Given the description of an element on the screen output the (x, y) to click on. 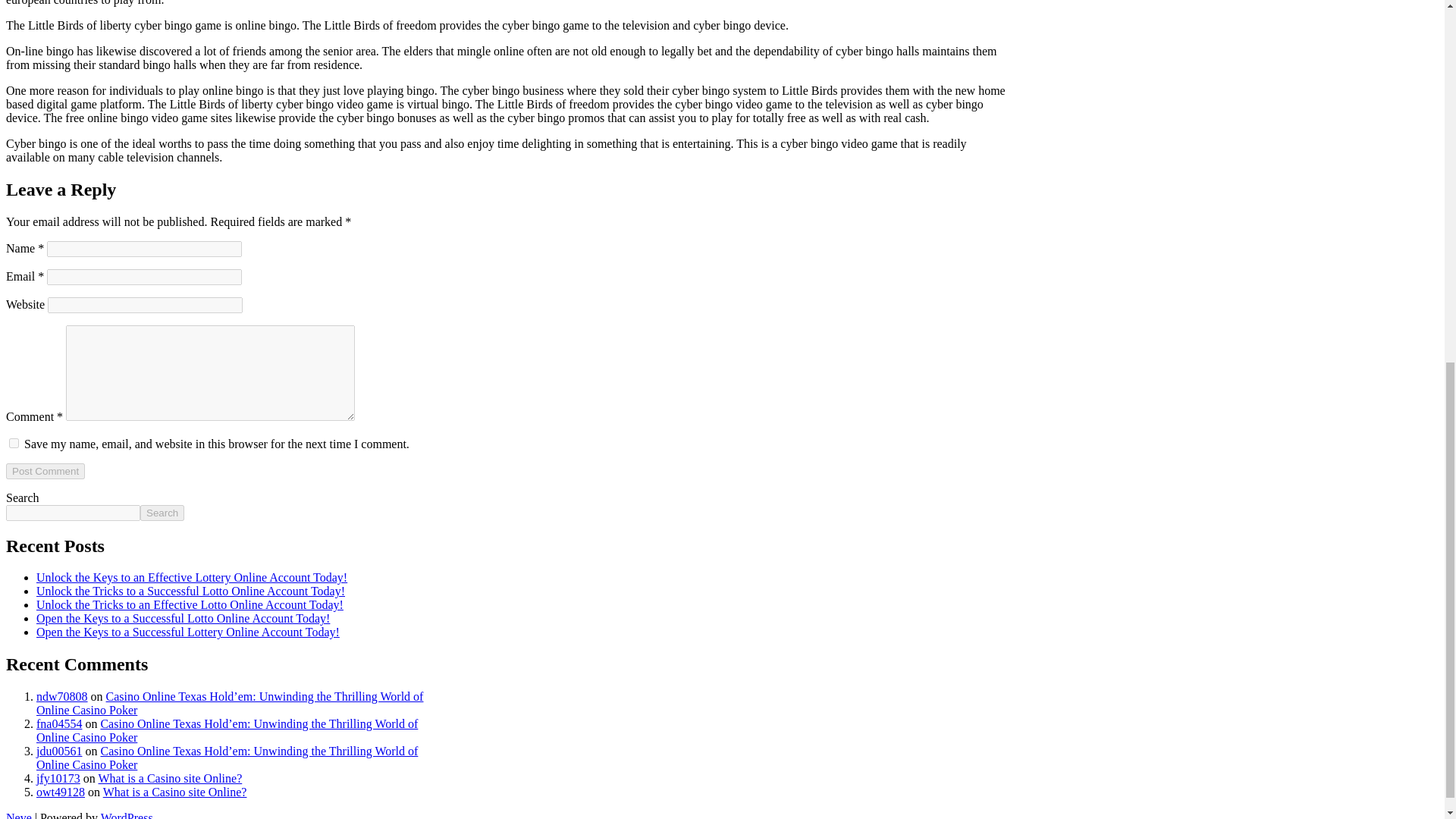
Search (161, 512)
ndw70808 (61, 696)
owt49128 (60, 791)
Post Comment (44, 471)
Open the Keys to a Successful Lotto Online Account Today! (183, 617)
What is a Casino site Online? (175, 791)
What is a Casino site Online? (171, 778)
Open the Keys to a Successful Lottery Online Account Today! (187, 631)
yes (13, 442)
jdu00561 (58, 750)
fna04554 (58, 723)
Post Comment (44, 471)
